Given the description of an element on the screen output the (x, y) to click on. 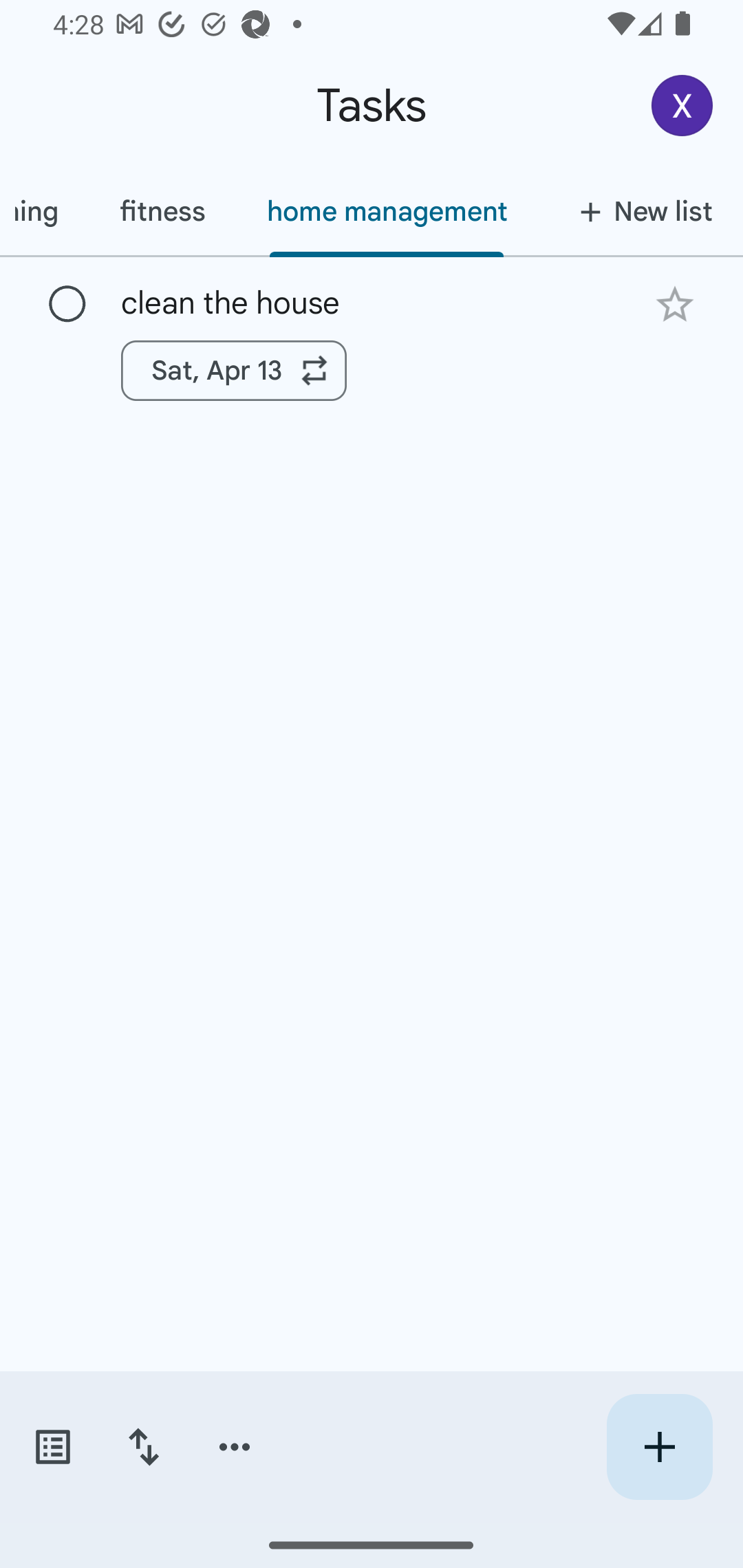
holiday planning (44, 211)
fitness (162, 211)
New list (640, 211)
Add star (674, 303)
Mark as complete (67, 304)
Sat, Apr 13 (233, 369)
Switch task lists (52, 1447)
Create new task (659, 1446)
Change sort order (143, 1446)
More options (234, 1446)
